Given the description of an element on the screen output the (x, y) to click on. 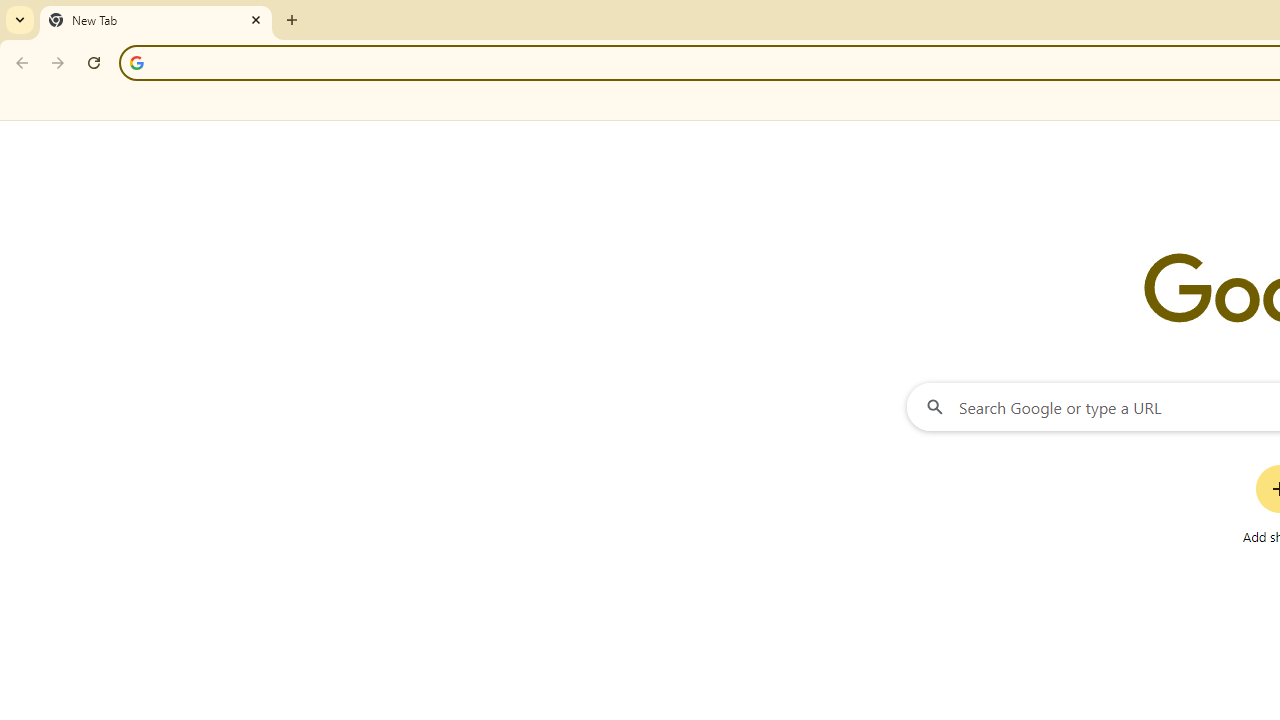
Search icon (136, 62)
New Tab (156, 20)
